Given the description of an element on the screen output the (x, y) to click on. 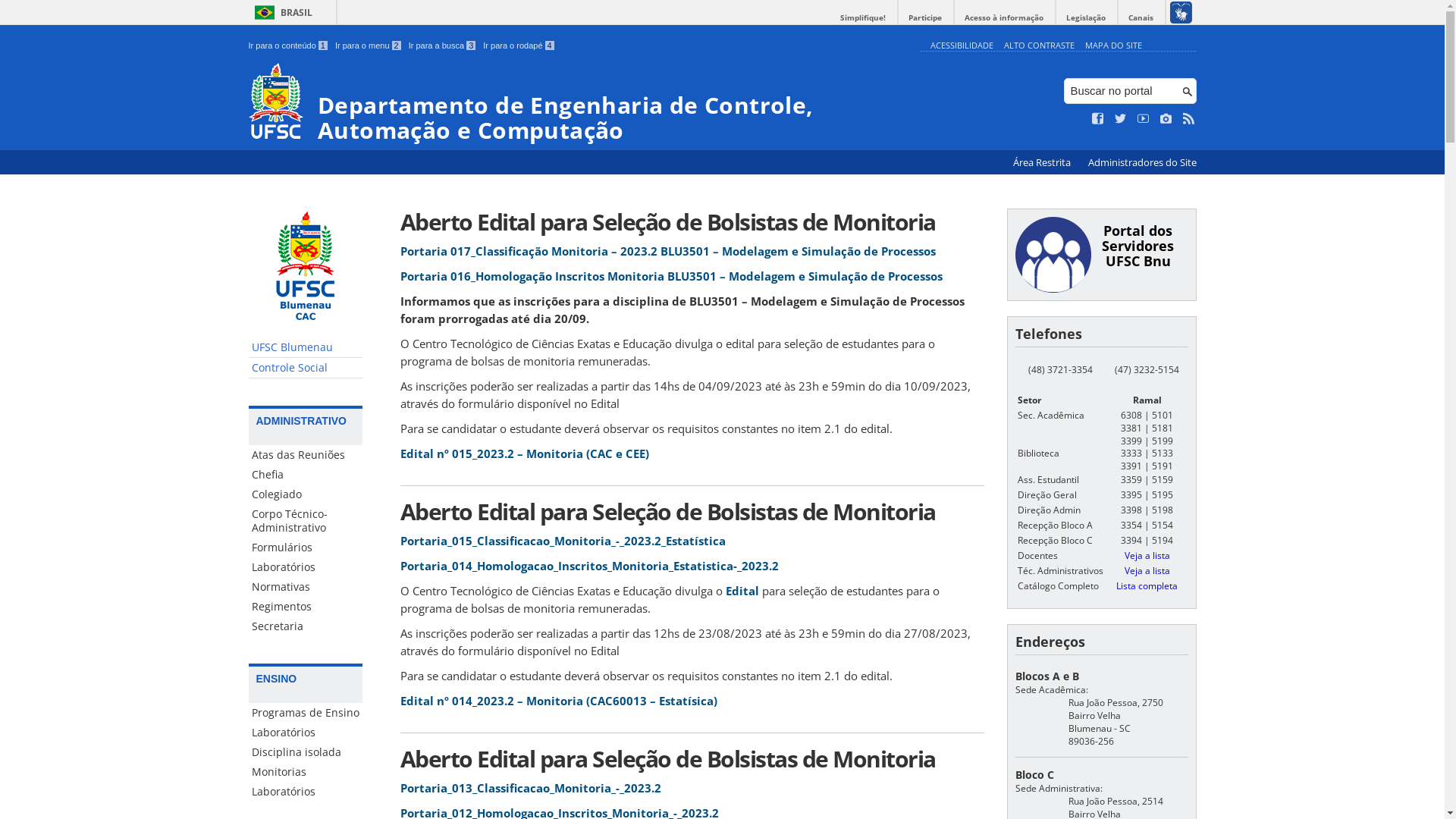
Controle Social Element type: text (305, 367)
Lista completa Element type: text (1146, 585)
Monitorias Element type: text (305, 771)
Secretaria Element type: text (305, 626)
Curta no Facebook Element type: hover (1098, 118)
Veja a lista Element type: text (1146, 570)
Participe Element type: text (924, 18)
Programas de Ensino Element type: text (305, 712)
Simplifique! Element type: text (862, 18)
MAPA DO SITE Element type: text (1112, 44)
Regimentos Element type: text (305, 606)
Portal dos Servidores UFSC Bnu Element type: text (1138, 245)
ACESSIBILIDADE Element type: text (960, 44)
Edital Element type: text (741, 590)
Colegiado Element type: text (305, 494)
Ir para o menu 2 Element type: text (368, 45)
Administradores do Site Element type: text (1141, 162)
Portaria_013_Classificacao_Monitoria_-_2023.2 Element type: text (530, 787)
Veja no Instagram Element type: hover (1166, 118)
Normativas Element type: text (305, 586)
Canais Element type: text (1140, 18)
BRASIL Element type: text (280, 12)
Disciplina isolada Element type: text (305, 752)
Ir para a busca 3 Element type: text (442, 45)
Veja a lista Element type: text (1146, 555)
ALTO CONTRASTE Element type: text (1039, 44)
Chefia Element type: text (305, 474)
UFSC Blumenau Element type: text (305, 347)
Siga no Twitter Element type: hover (1120, 118)
